Given the description of an element on the screen output the (x, y) to click on. 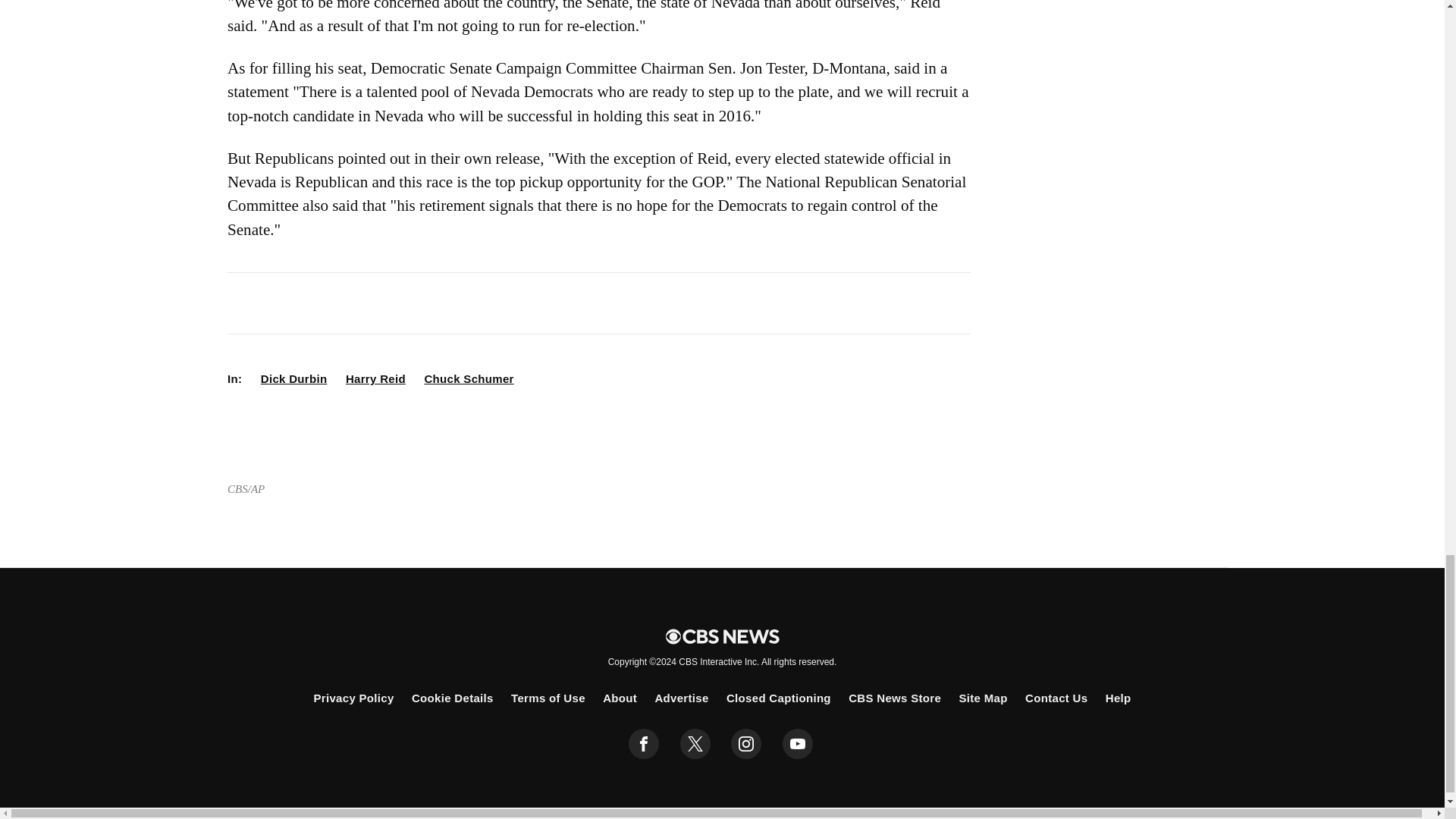
instagram (745, 743)
facebook (643, 743)
twitter (694, 743)
youtube (797, 743)
